Given the description of an element on the screen output the (x, y) to click on. 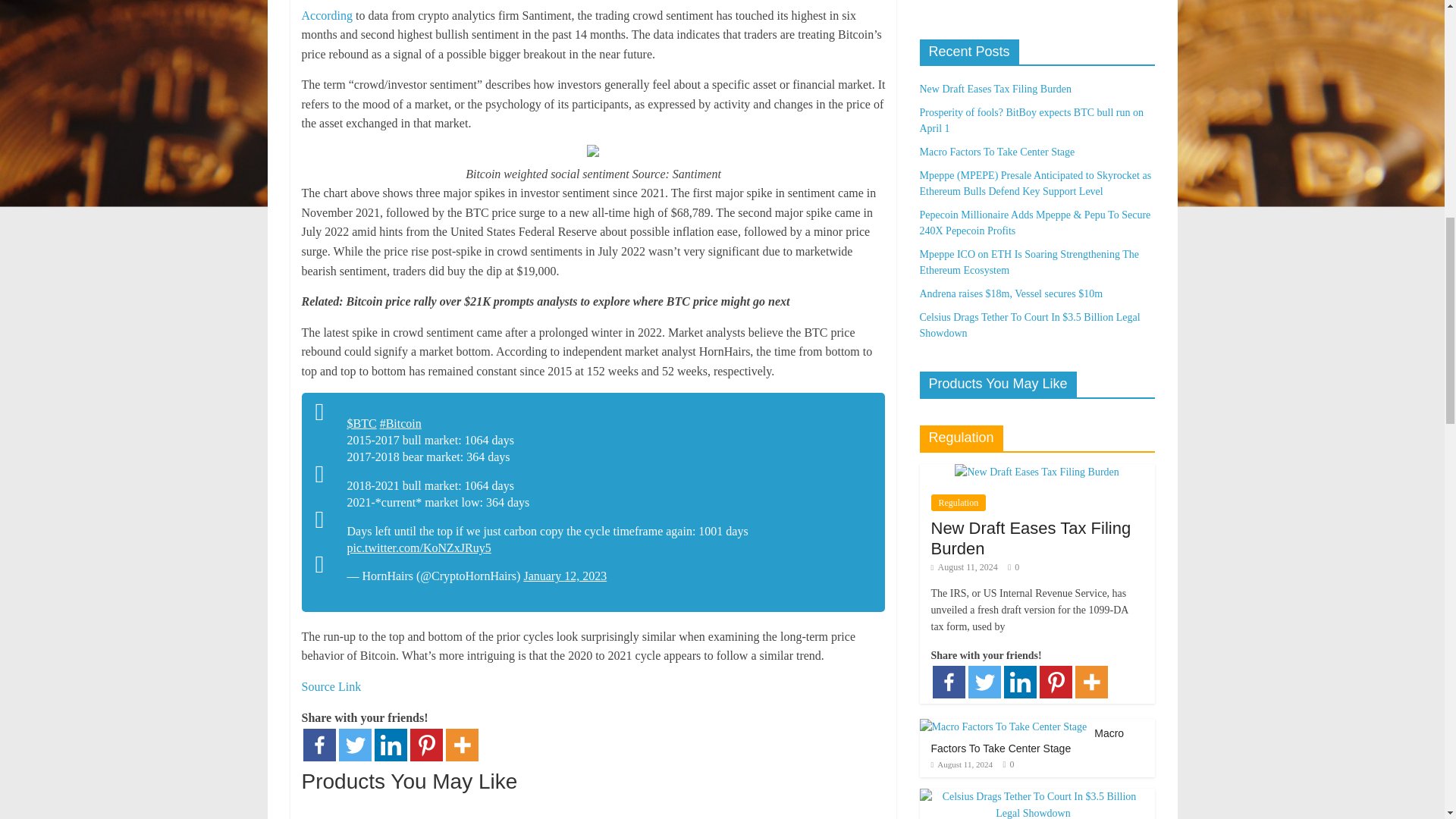
Twitter (354, 744)
Pinterest (425, 744)
According (327, 15)
Source Link (331, 686)
More (462, 744)
Linkedin (390, 744)
January 12, 2023 (564, 575)
Facebook (319, 744)
